Given the description of an element on the screen output the (x, y) to click on. 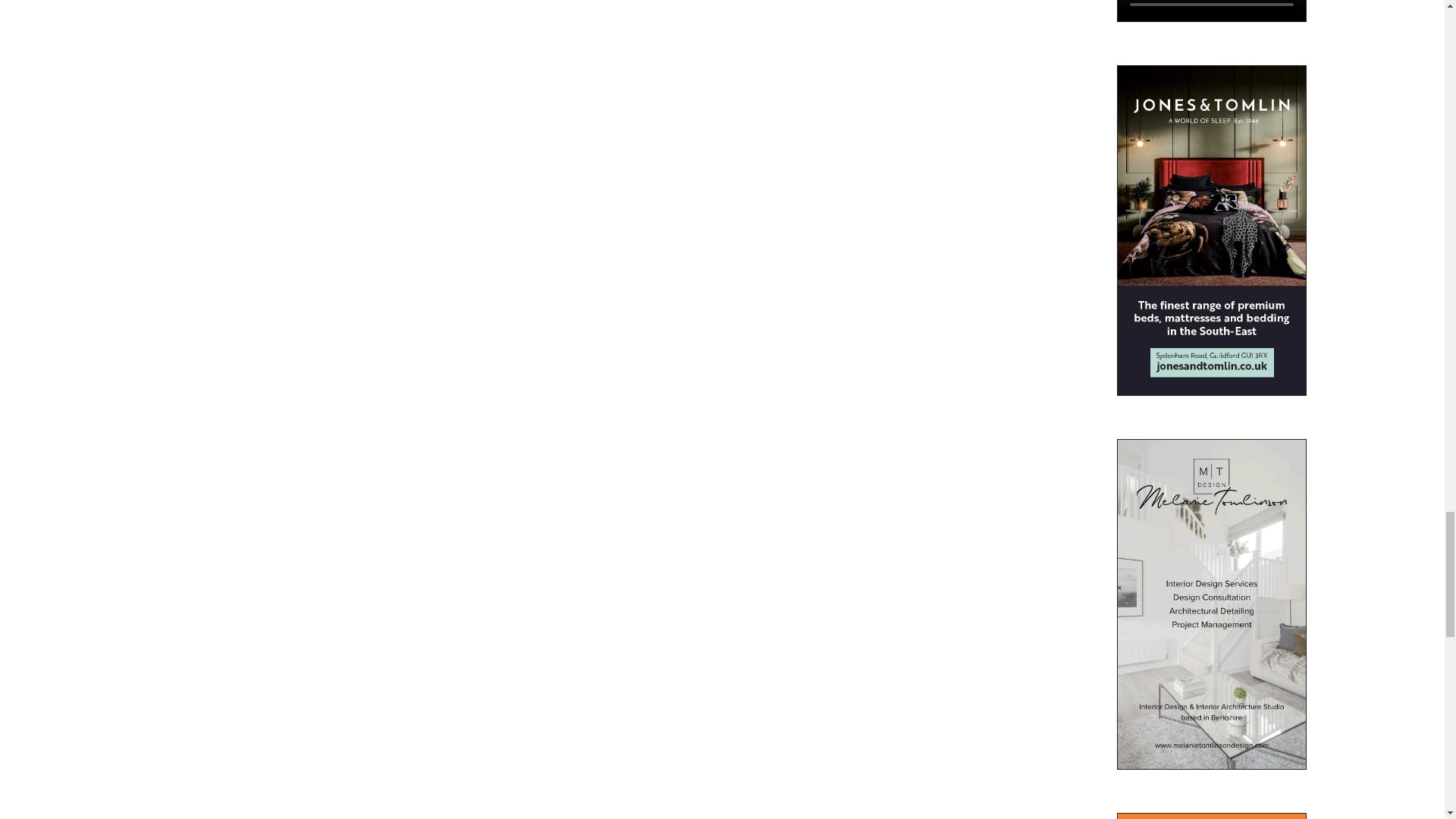
Your browser does not support the video tag. (1211, 17)
